Given the description of an element on the screen output the (x, y) to click on. 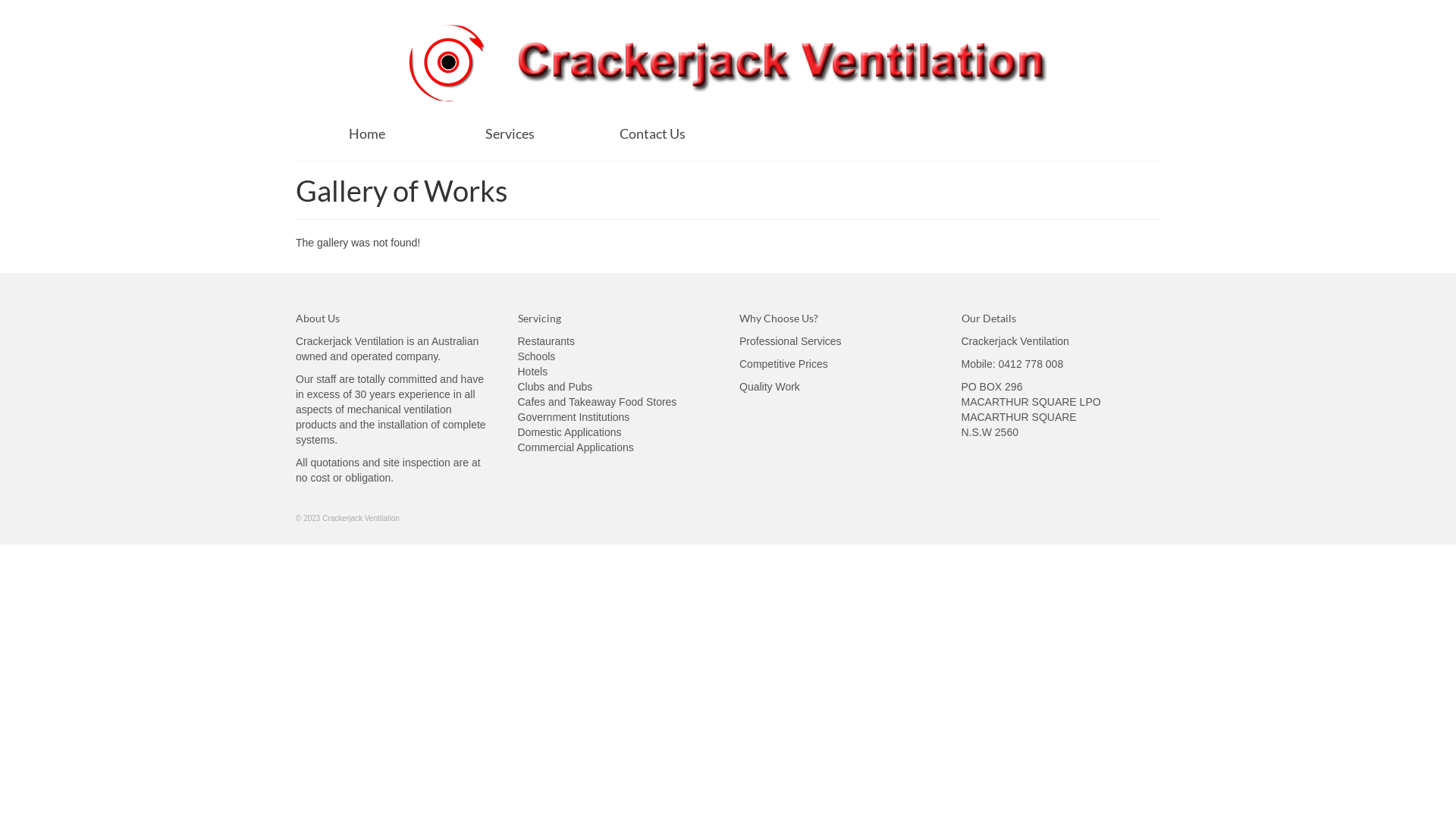
Contact Us Element type: text (651, 133)
Services Element type: text (509, 133)
Home Element type: text (366, 133)
